Given the description of an element on the screen output the (x, y) to click on. 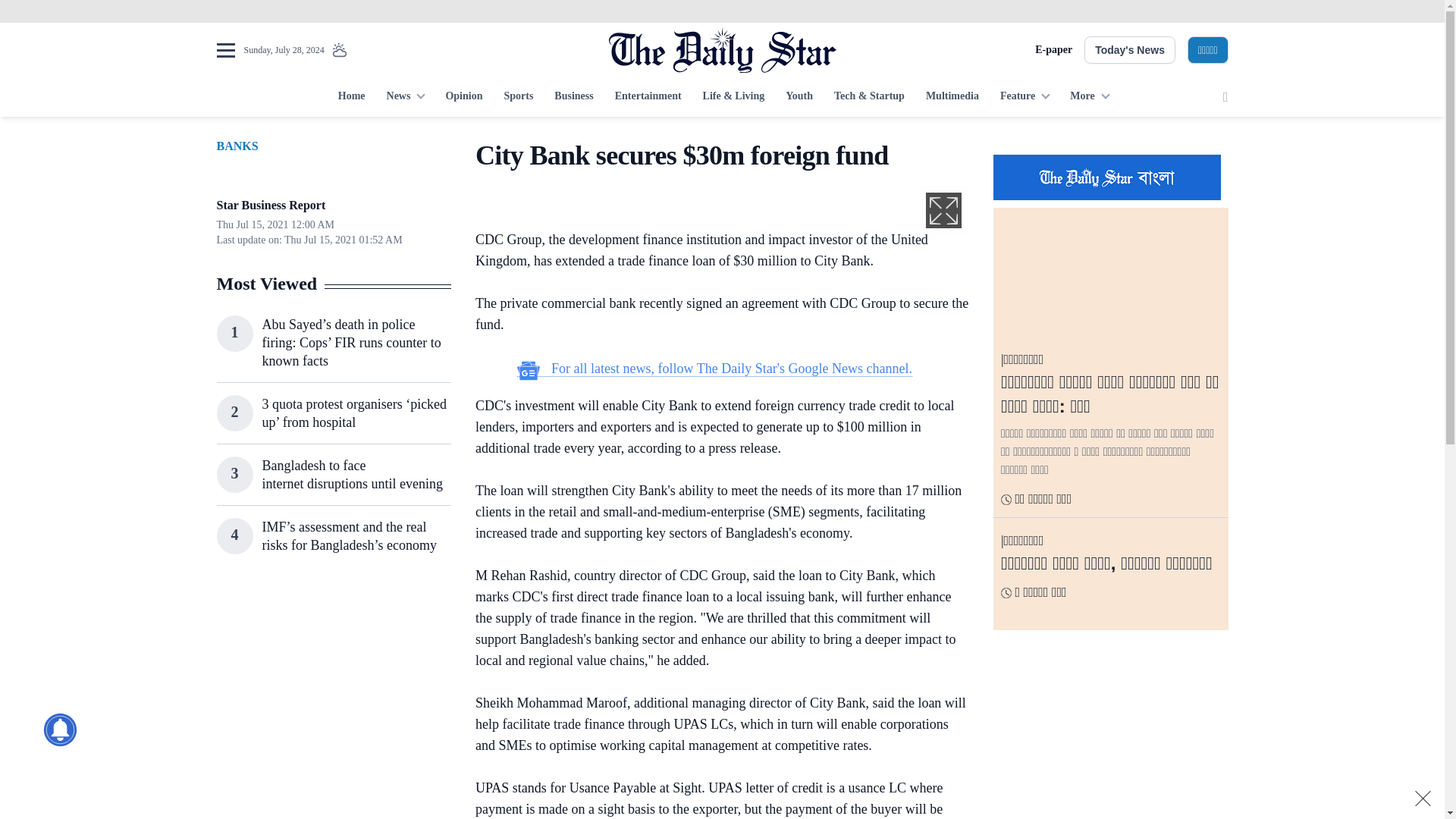
Youth (799, 96)
News (405, 96)
Entertainment (647, 96)
Feature (1024, 96)
Home (351, 96)
Business (573, 96)
Multimedia (952, 96)
Opinion (463, 96)
E-paper (1053, 49)
Today's News (1129, 49)
Sports (518, 96)
